Given the description of an element on the screen output the (x, y) to click on. 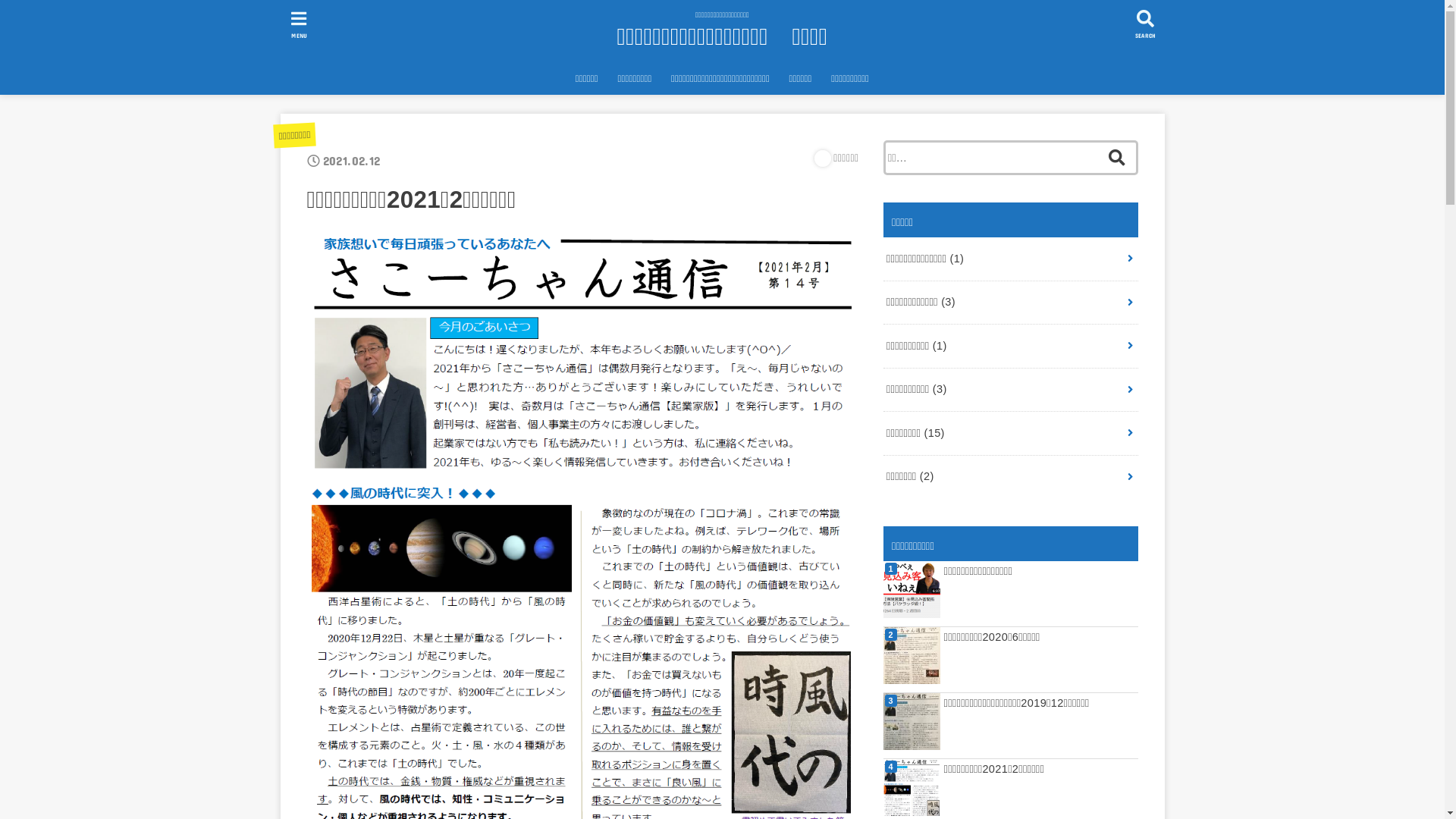
MENU Element type: text (298, 23)
SEARCH Element type: text (1145, 23)
